Given the description of an element on the screen output the (x, y) to click on. 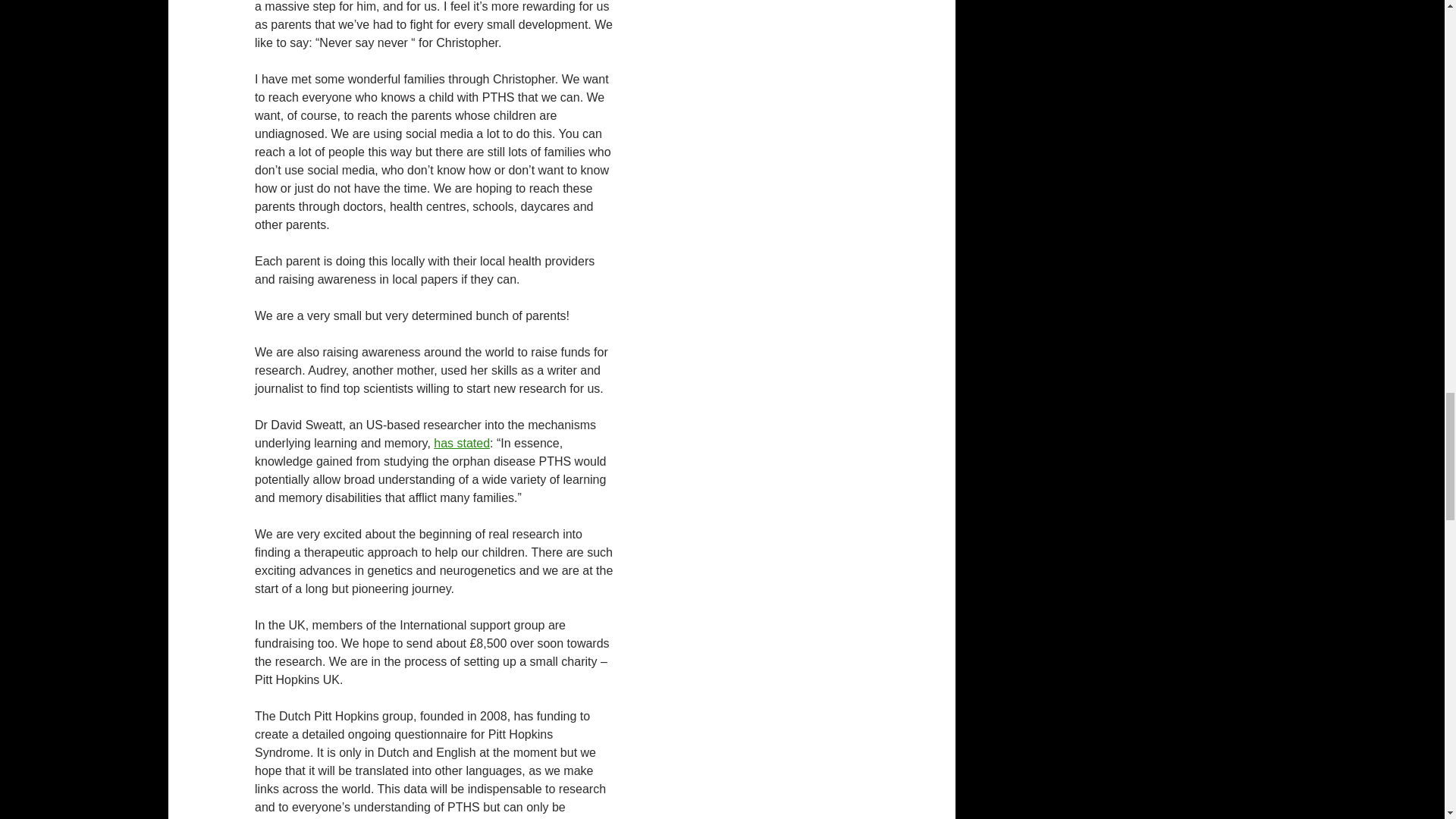
has stated (461, 442)
